Given the description of an element on the screen output the (x, y) to click on. 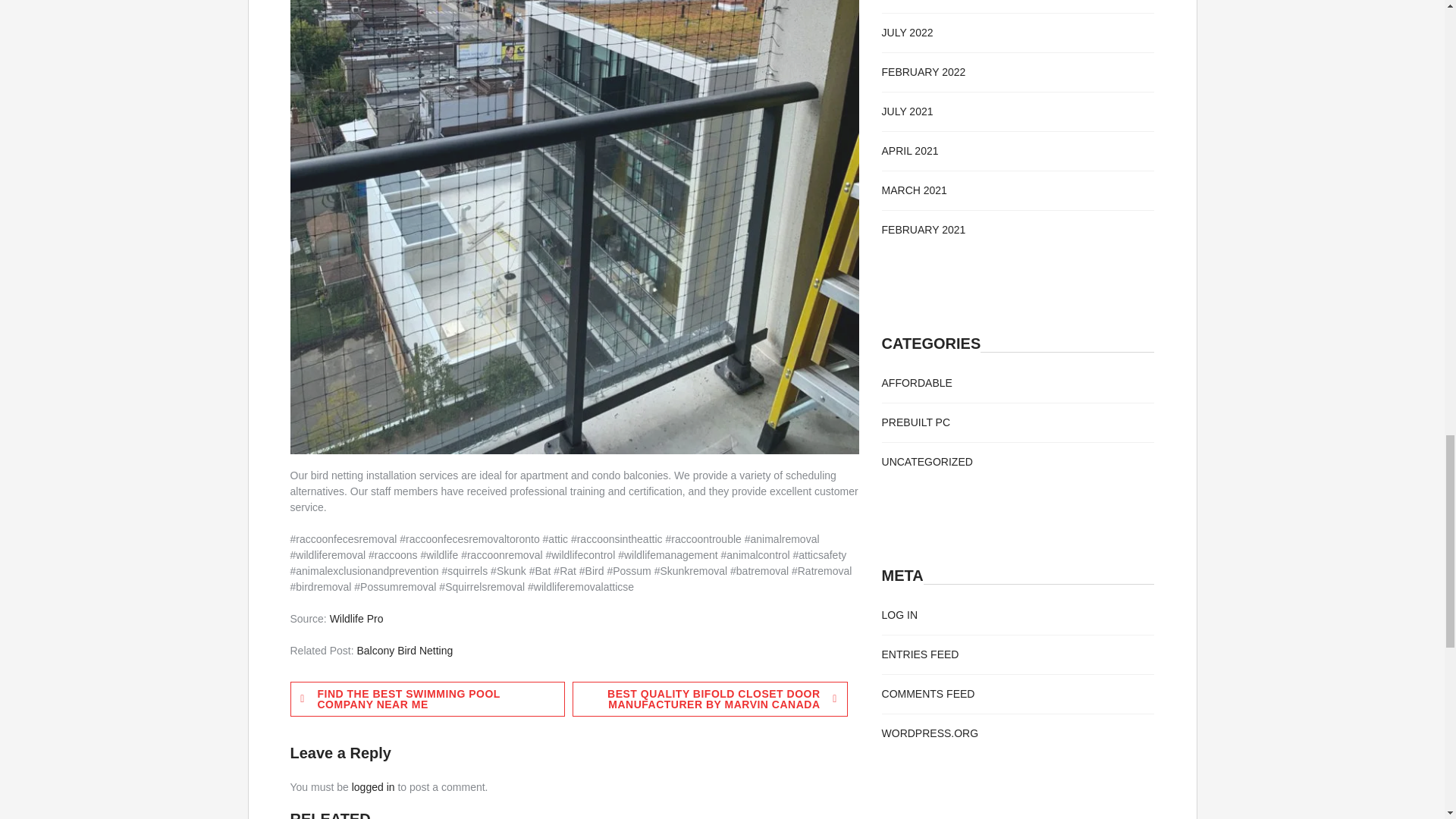
logged in (373, 787)
FIND THE BEST SWIMMING POOL COMPANY NEAR ME (426, 698)
Wildlife Pro (357, 618)
Balcony Bird Netting (404, 650)
